Given the description of an element on the screen output the (x, y) to click on. 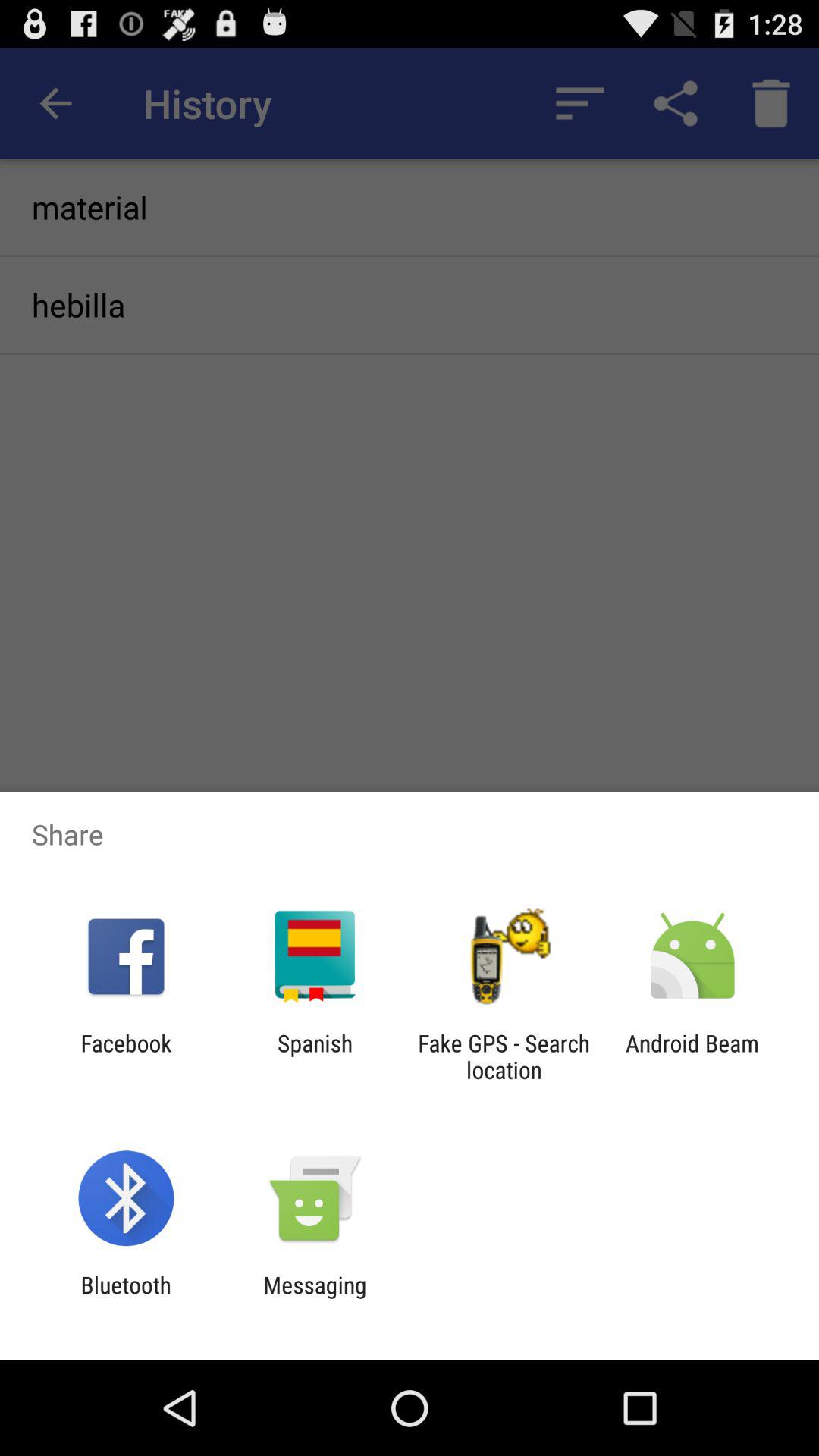
click the item next to the android beam app (503, 1056)
